Given the description of an element on the screen output the (x, y) to click on. 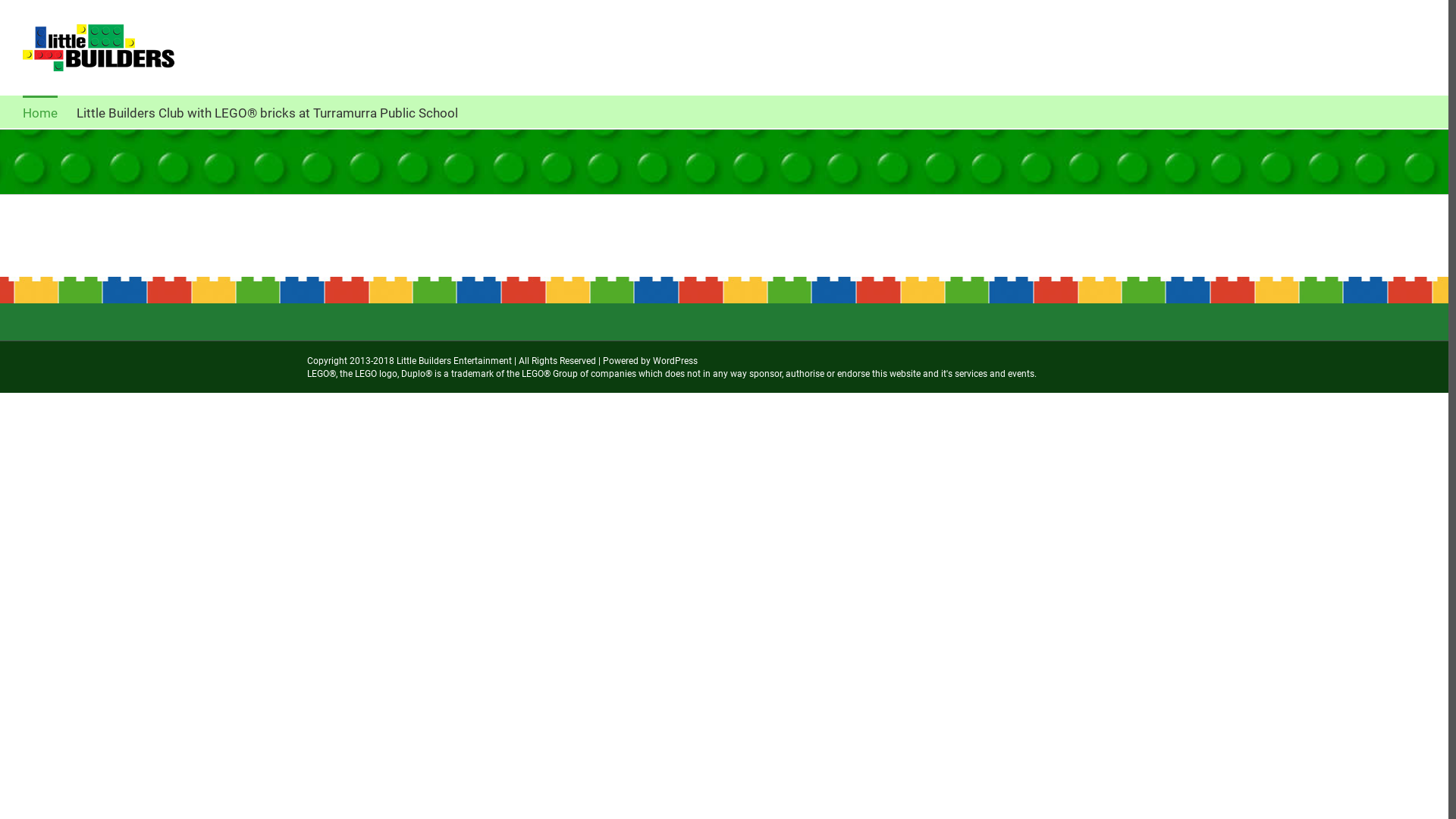
Home Element type: text (39, 111)
WordPress Element type: text (674, 360)
